Given the description of an element on the screen output the (x, y) to click on. 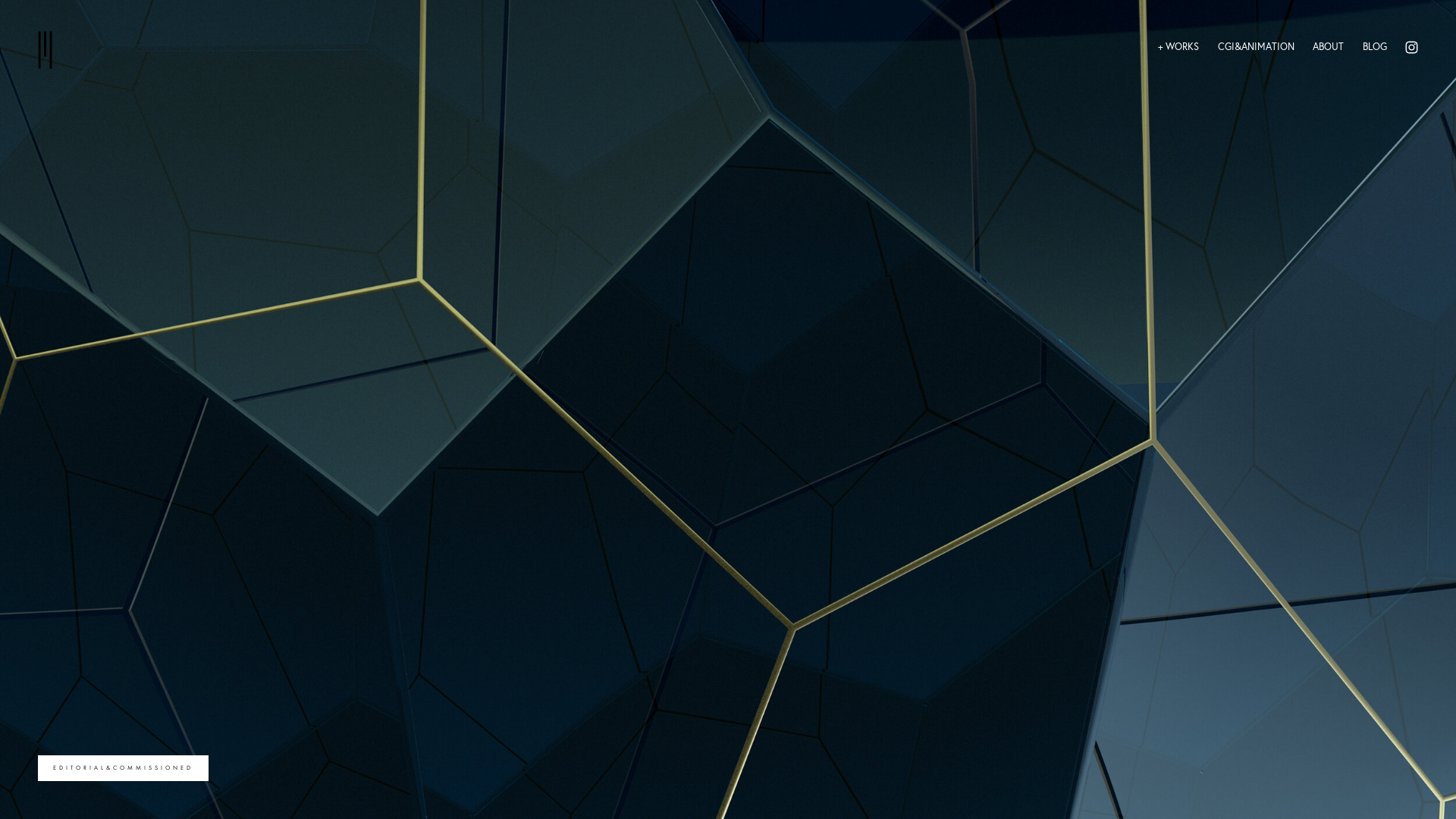
WORKS Element type: text (1177, 46)
CGI&ANIMATION Element type: text (1255, 46)
ABOUT Element type: text (1327, 46)
BLOG Element type: text (1373, 46)
EDITORIAL&COMMISSIONED Element type: text (122, 768)
